Given the description of an element on the screen output the (x, y) to click on. 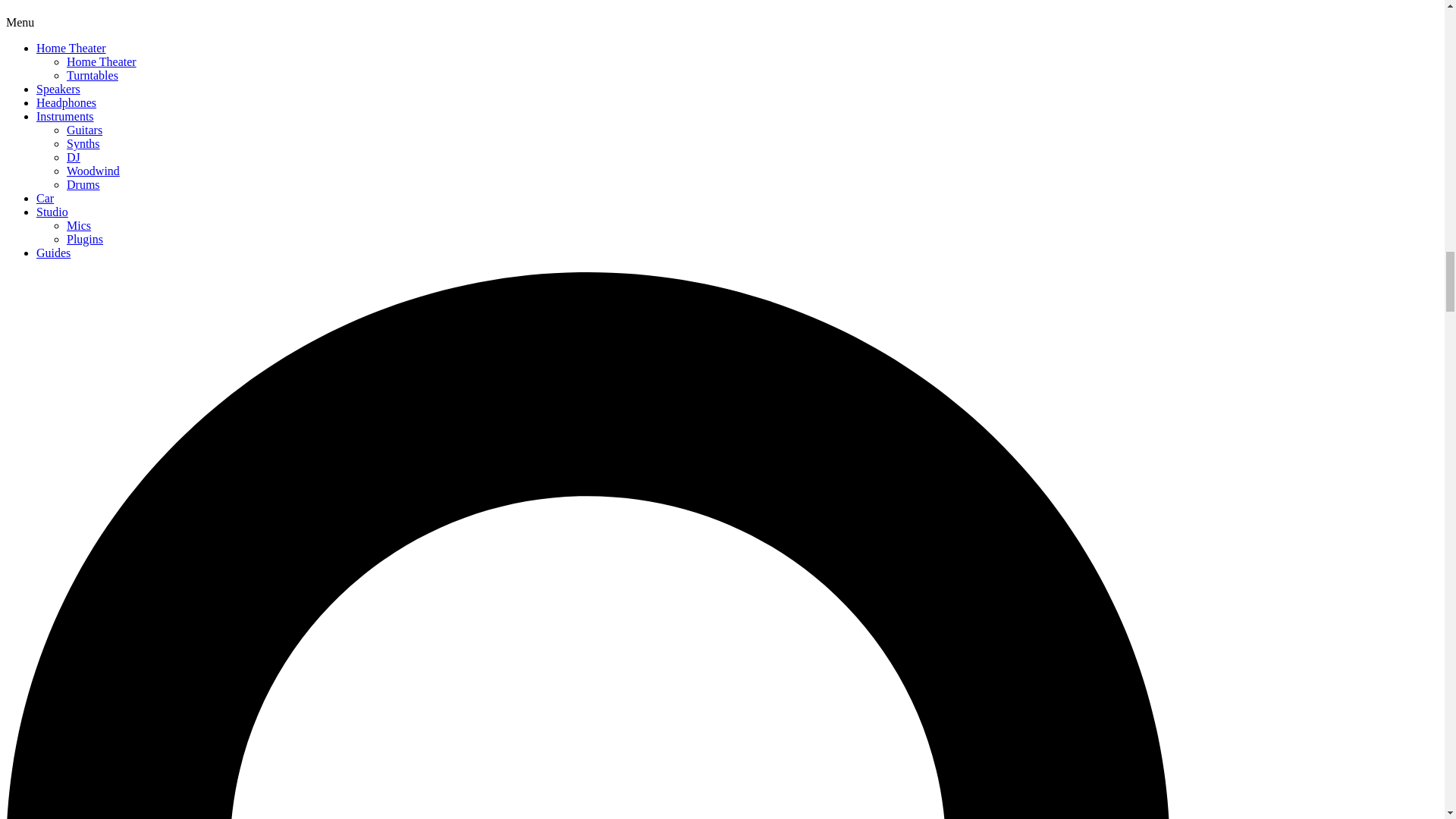
Instruments (65, 115)
Synths (83, 143)
Home Theater (101, 61)
Turntables (91, 74)
DJ (73, 156)
Plugins (84, 238)
Mics (78, 225)
Woodwind (92, 170)
Guitars (83, 129)
Studio (52, 211)
